Given the description of an element on the screen output the (x, y) to click on. 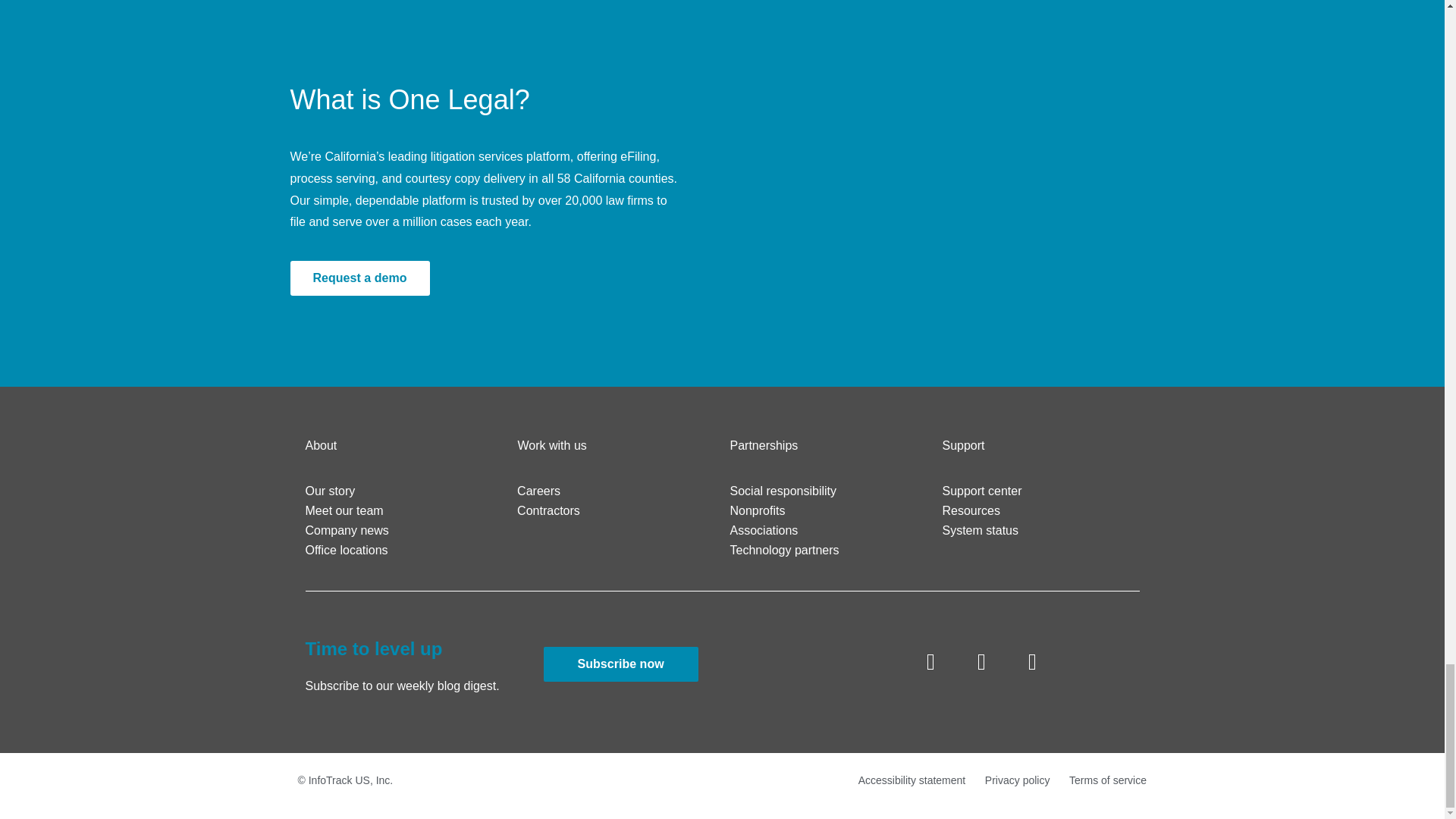
Request a demo (359, 278)
